Given the description of an element on the screen output the (x, y) to click on. 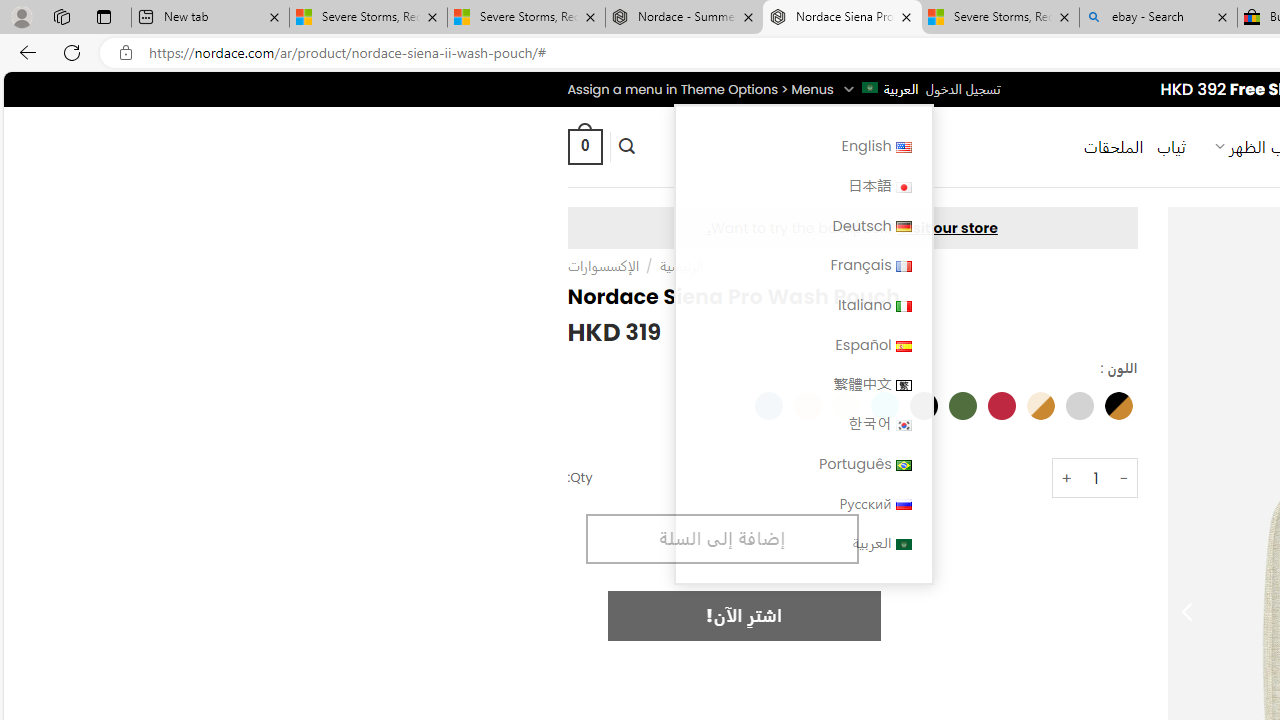
View site information (125, 53)
Italiano  (802, 303)
Personal Profile (21, 16)
English  (802, 145)
  0   (584, 146)
Deutsch  (802, 225)
+ (1066, 477)
Assign a menu in Theme Options > Menus (700, 89)
